Given the description of an element on the screen output the (x, y) to click on. 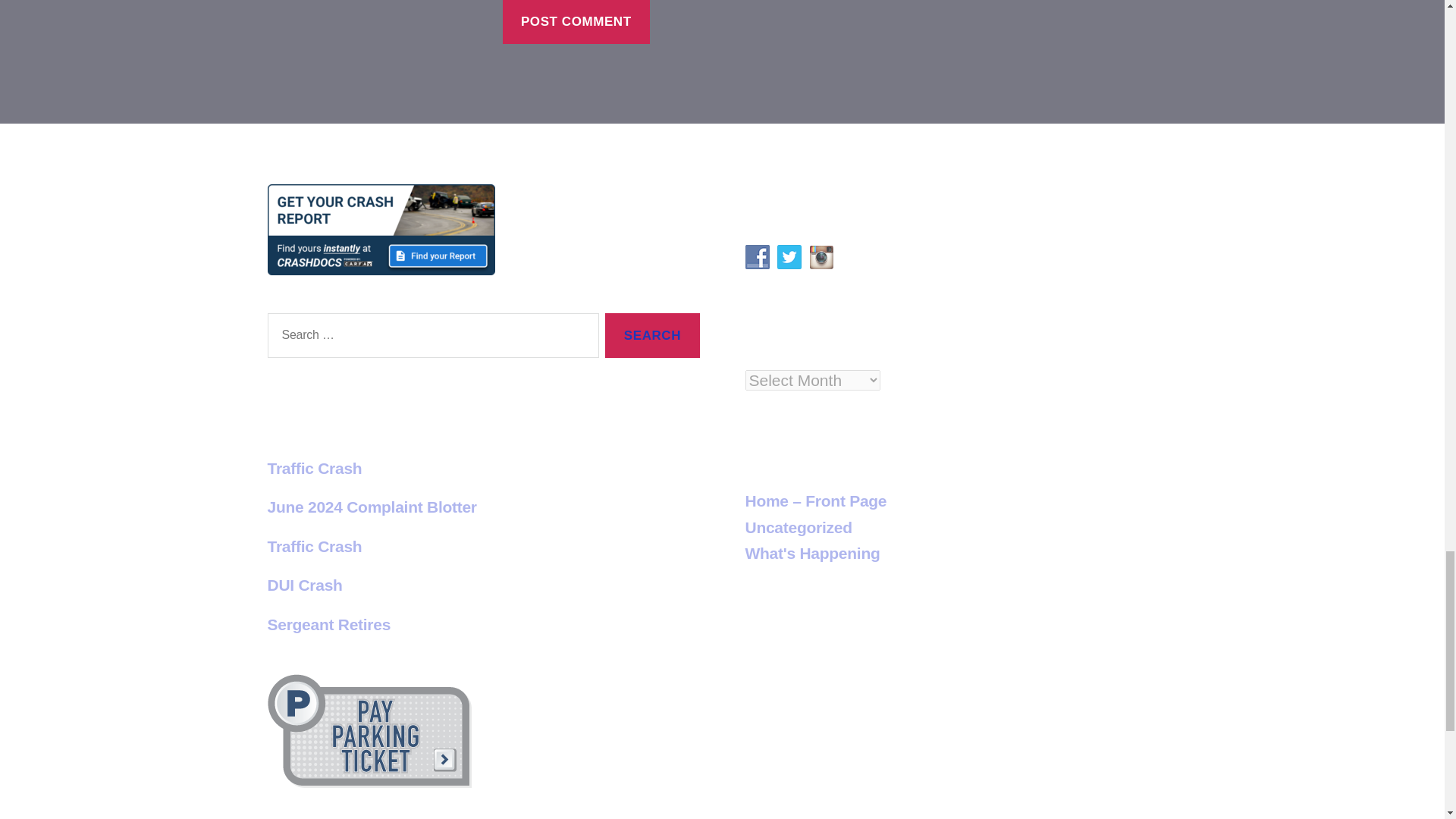
Follow Us on Twitter (788, 256)
Search (651, 334)
Follow Us on Instagram (820, 256)
Post Comment (575, 22)
Search (651, 334)
Follow Us on Facebook (756, 256)
